Given the description of an element on the screen output the (x, y) to click on. 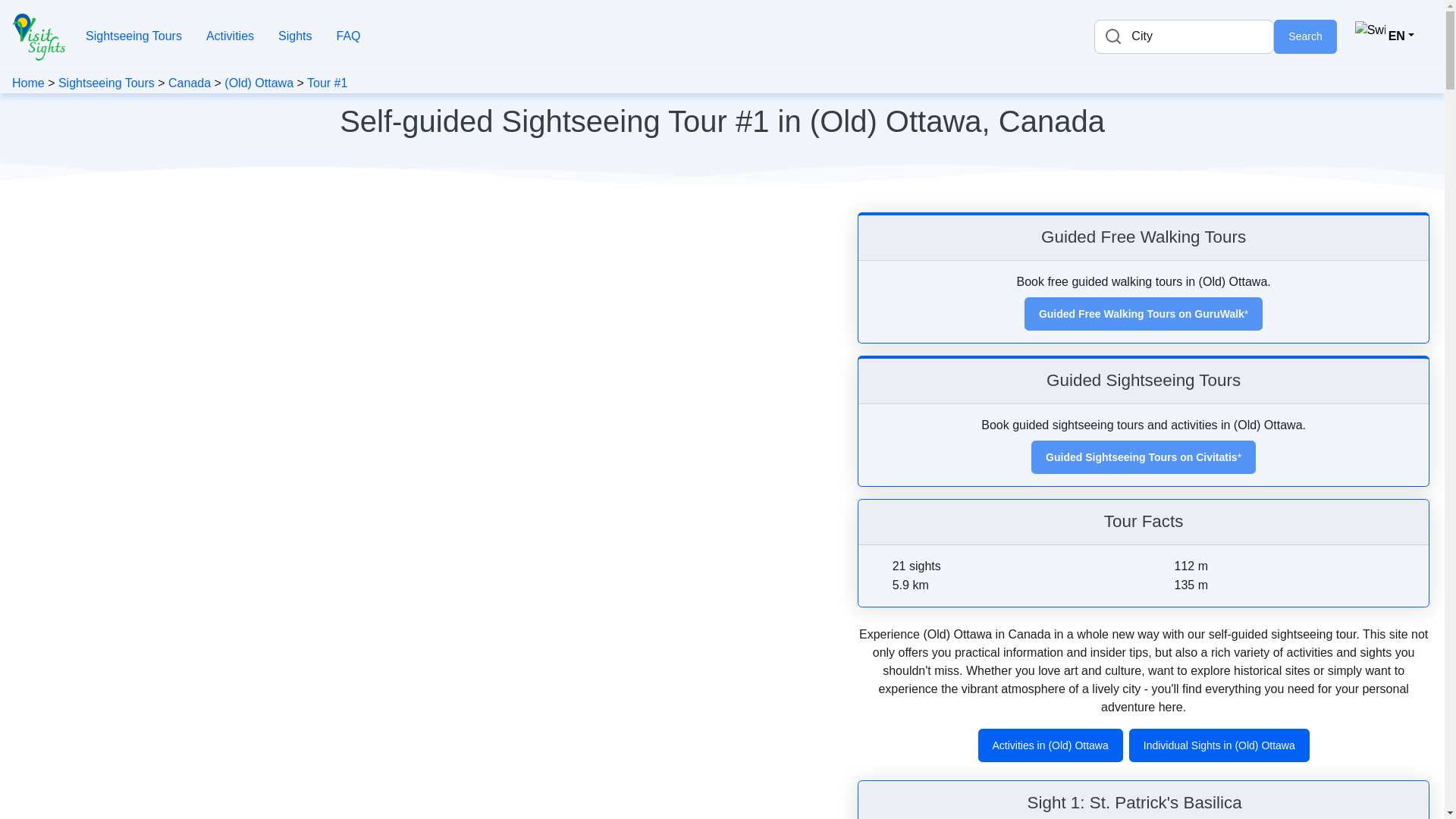
Sightseeing Tours (106, 82)
EN (1384, 36)
Switch language (1384, 36)
Sightseeing Tours (133, 36)
Show sight on map (1250, 805)
Distance (879, 585)
Number of sights (879, 566)
Canada (189, 82)
FAQ (348, 36)
Search (1305, 36)
